Given the description of an element on the screen output the (x, y) to click on. 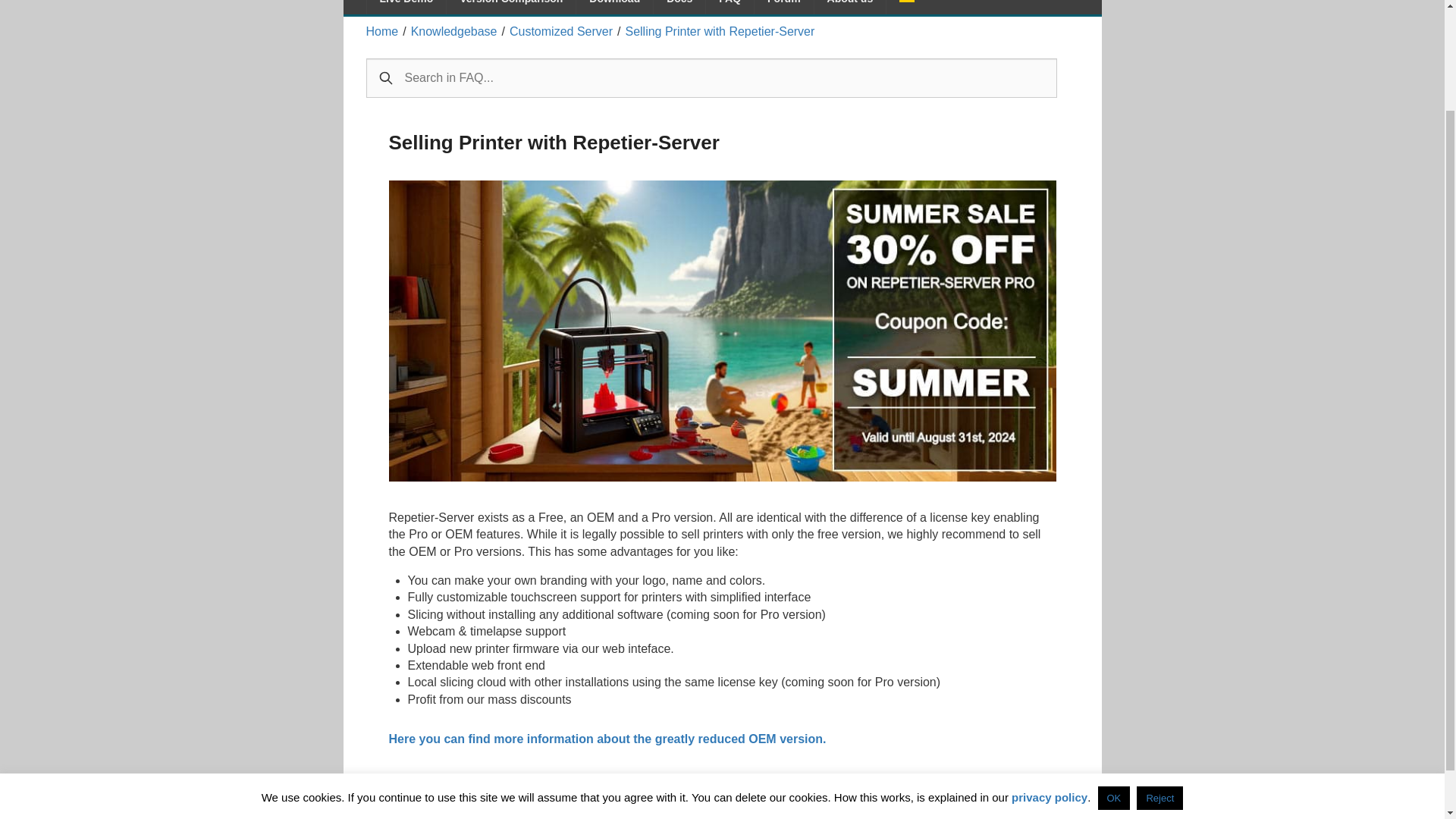
Reject (1159, 674)
Docs (678, 7)
OK (1114, 674)
Home (381, 31)
Live Demo (406, 7)
Version Comparison (510, 7)
privacy policy (1049, 673)
About us (849, 7)
Download (614, 7)
